Given the description of an element on the screen output the (x, y) to click on. 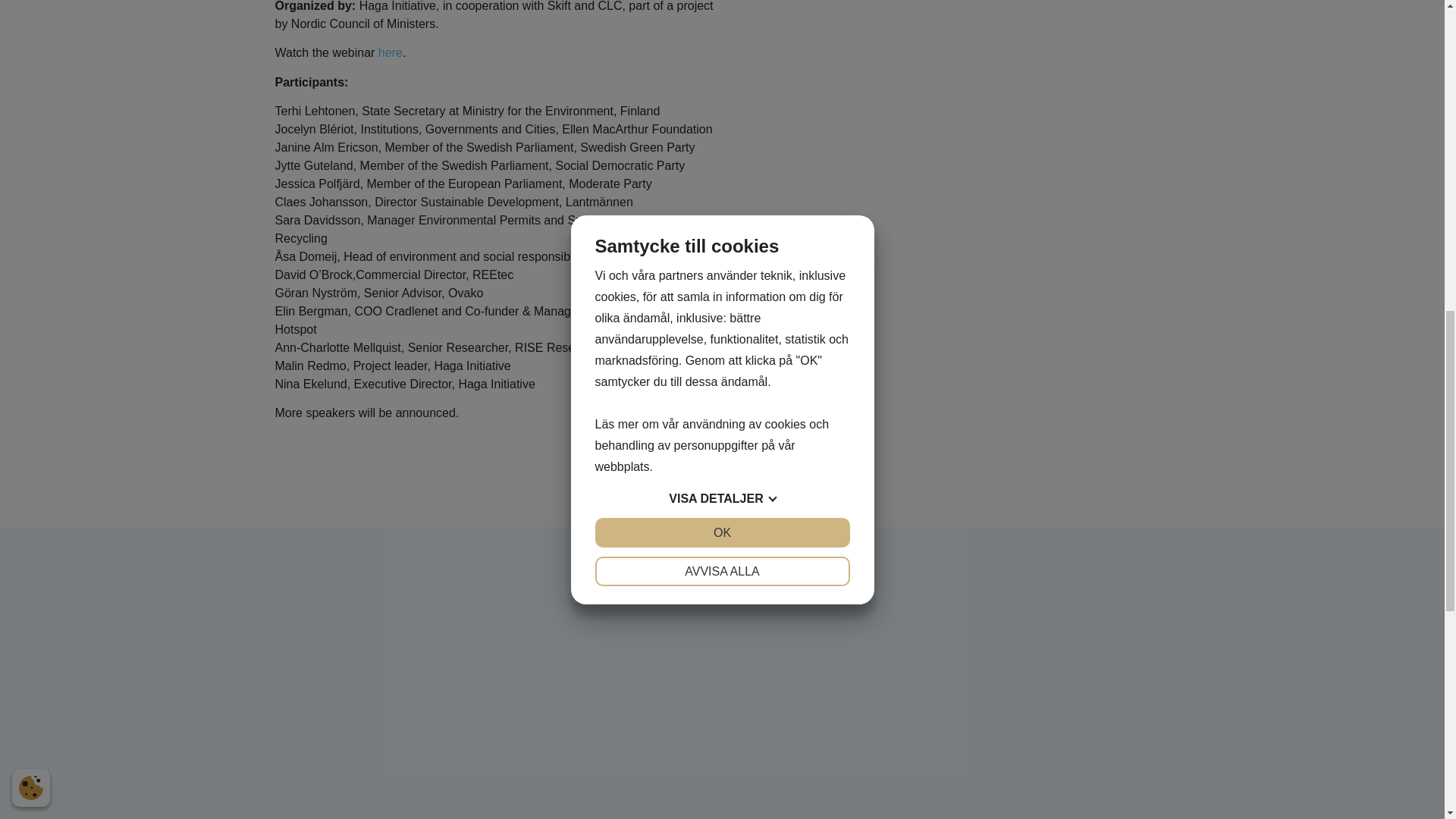
lantmannen-logo (364, 789)
logotype (901, 789)
fb-folksam (721, 672)
stena-recycling (1080, 789)
Scan Sverige AB svart (901, 672)
